Given the description of an element on the screen output the (x, y) to click on. 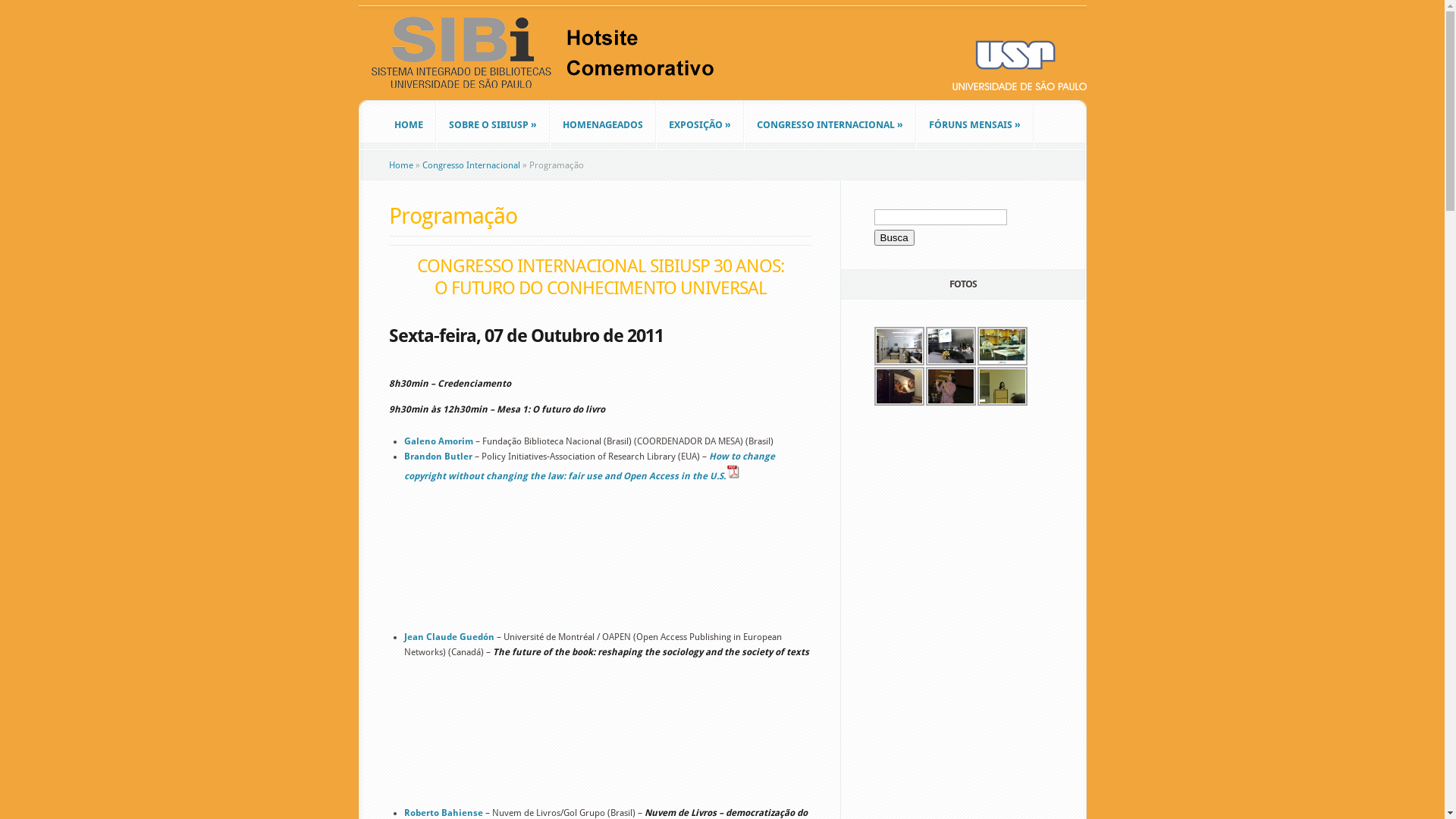
Congresso Internacional Element type: text (470, 165)
Busca Element type: text (893, 237)
Galeno Amorim Element type: text (437, 441)
pdf_slog Element type: hover (732, 471)
Home Element type: text (400, 165)
Exposicao_20120312-[028] Element type: hover (898, 386)
Brandon Butler Element type: text (437, 456)
Congresso_SIBiUSP-30-Anos[095] Element type: hover (950, 345)
HOMENAGEADOS Element type: text (602, 124)
CEBIMAR (3) Element type: hover (898, 345)
Forum_Novembro_2011-29 Element type: hover (1001, 386)
ECA09 Element type: hover (1001, 345)
HOME Element type: text (408, 124)
Roberto Bahiense Element type: text (442, 812)
Forum_Junho_2011-49 Element type: hover (950, 386)
